Given the description of an element on the screen output the (x, y) to click on. 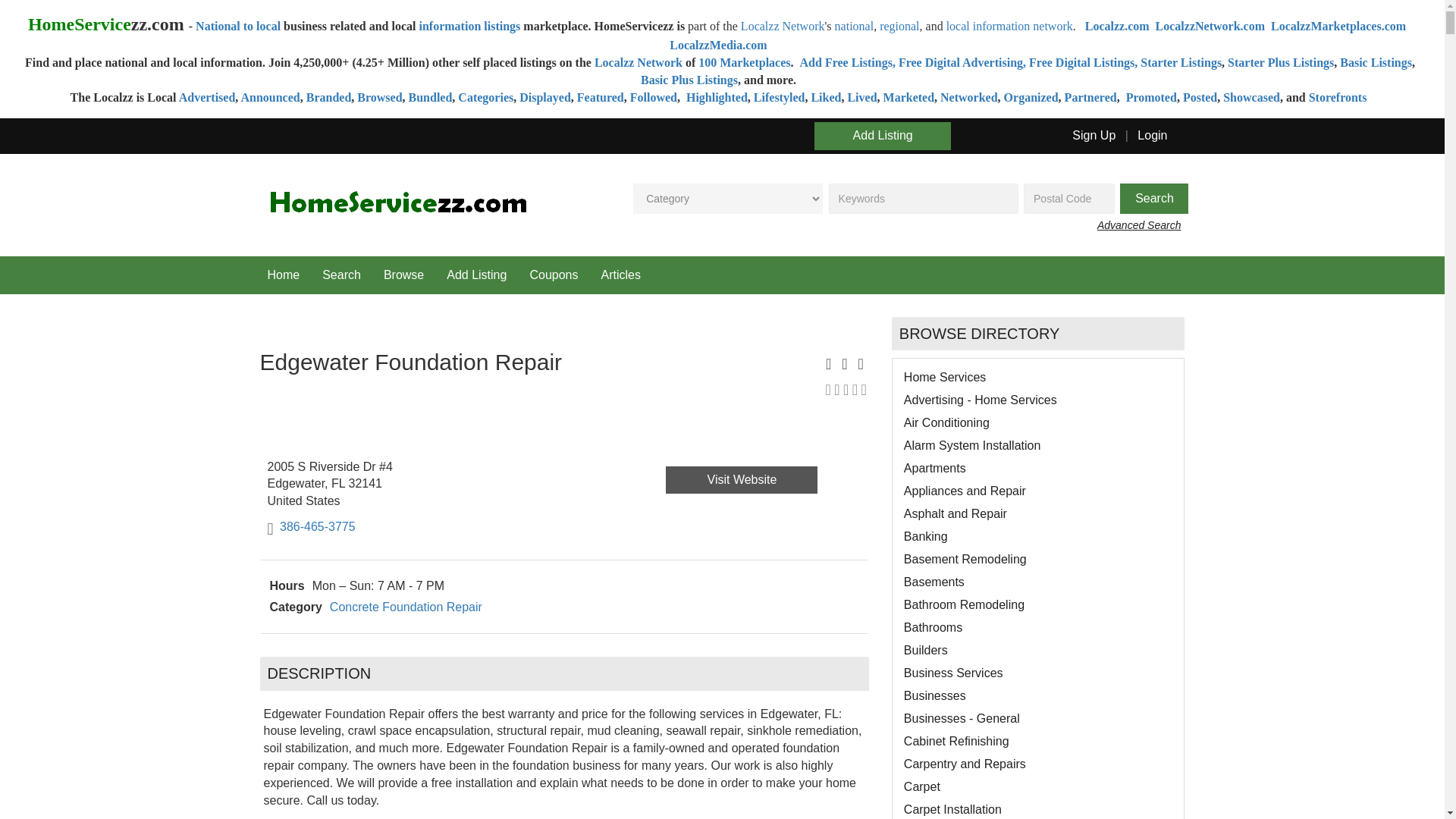
Followed (653, 97)
Advertised (207, 97)
Storefronts (1337, 97)
Basic Listings (1375, 62)
Showcased (1251, 97)
Marketed (908, 97)
Localzz Network (638, 62)
LocalzzMedia.com (718, 44)
national (854, 25)
information listings (469, 25)
